Given the description of an element on the screen output the (x, y) to click on. 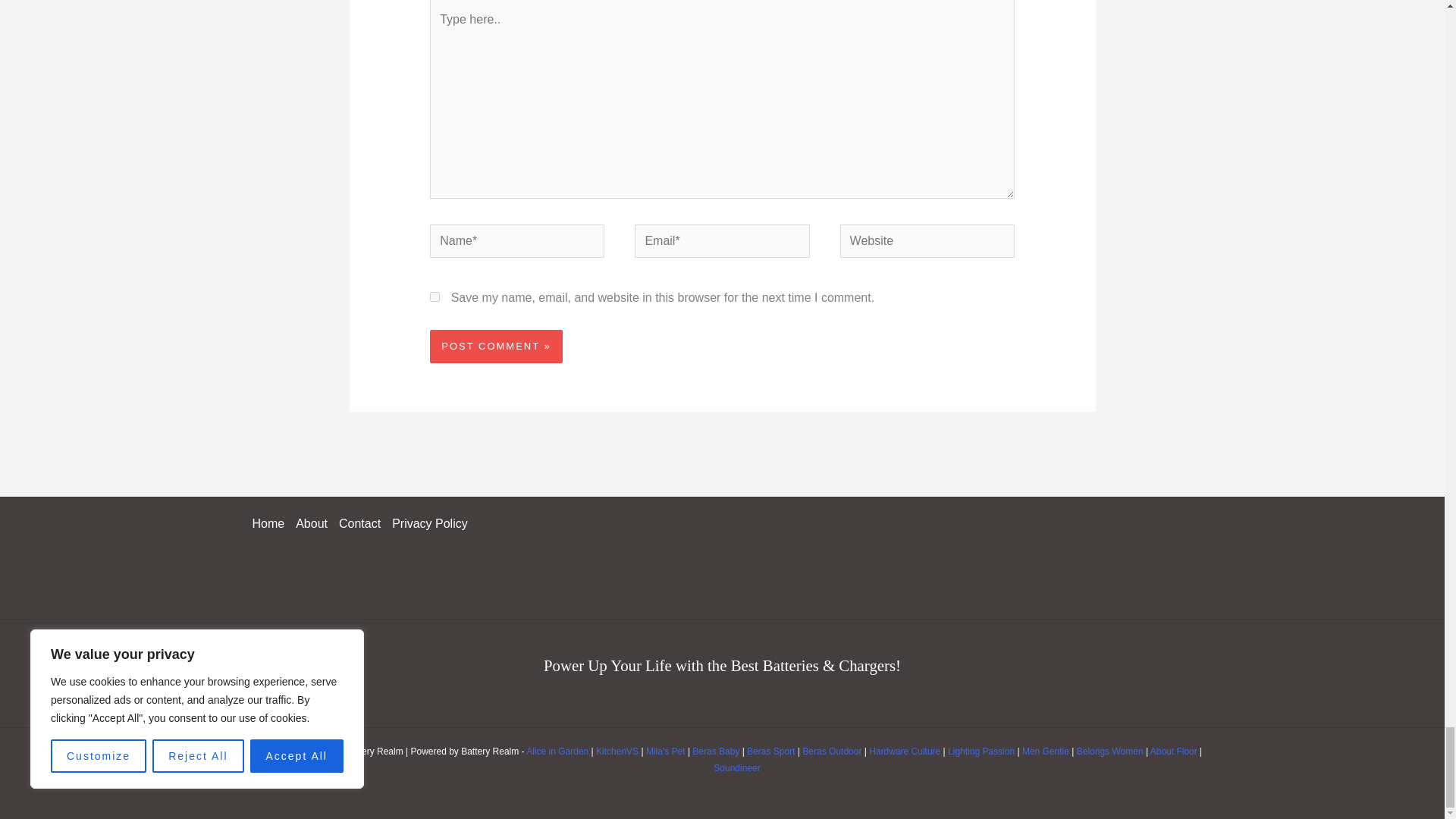
yes (434, 296)
